Given the description of an element on the screen output the (x, y) to click on. 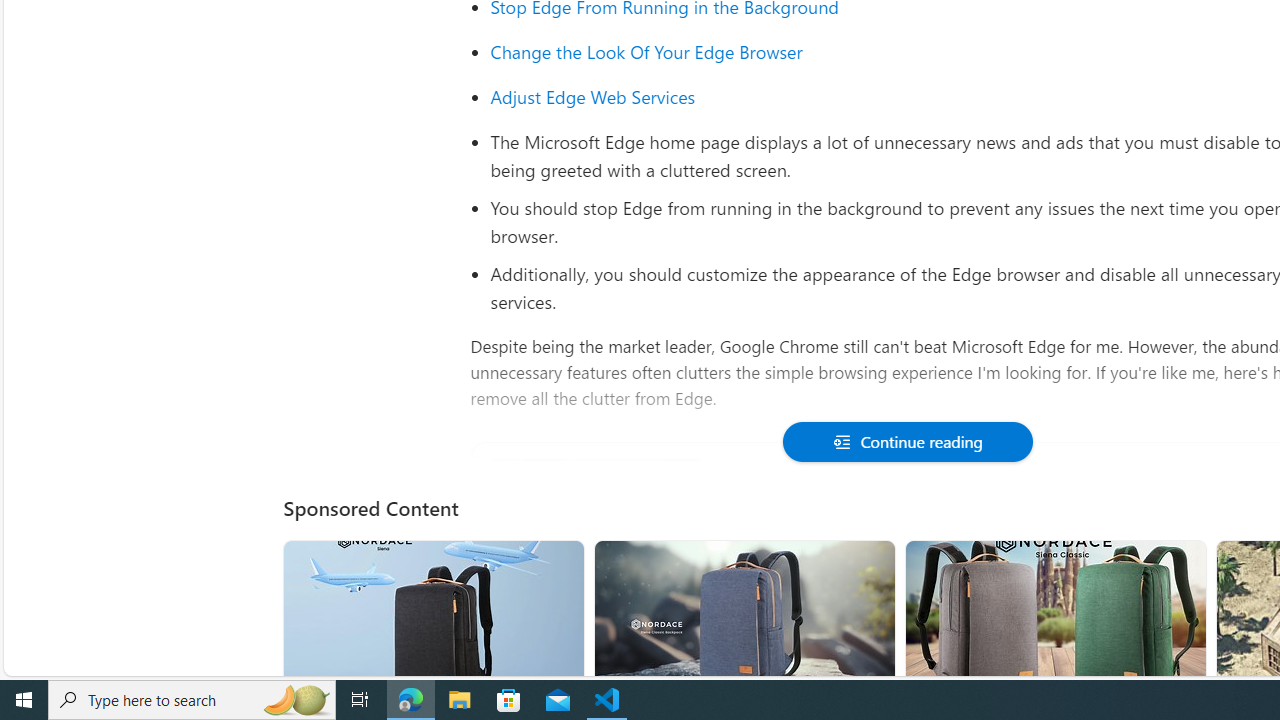
See more (1182, 564)
Adjust Edge Web Services (593, 96)
Change the Look Of Your Edge Browser (646, 52)
